Given the description of an element on the screen output the (x, y) to click on. 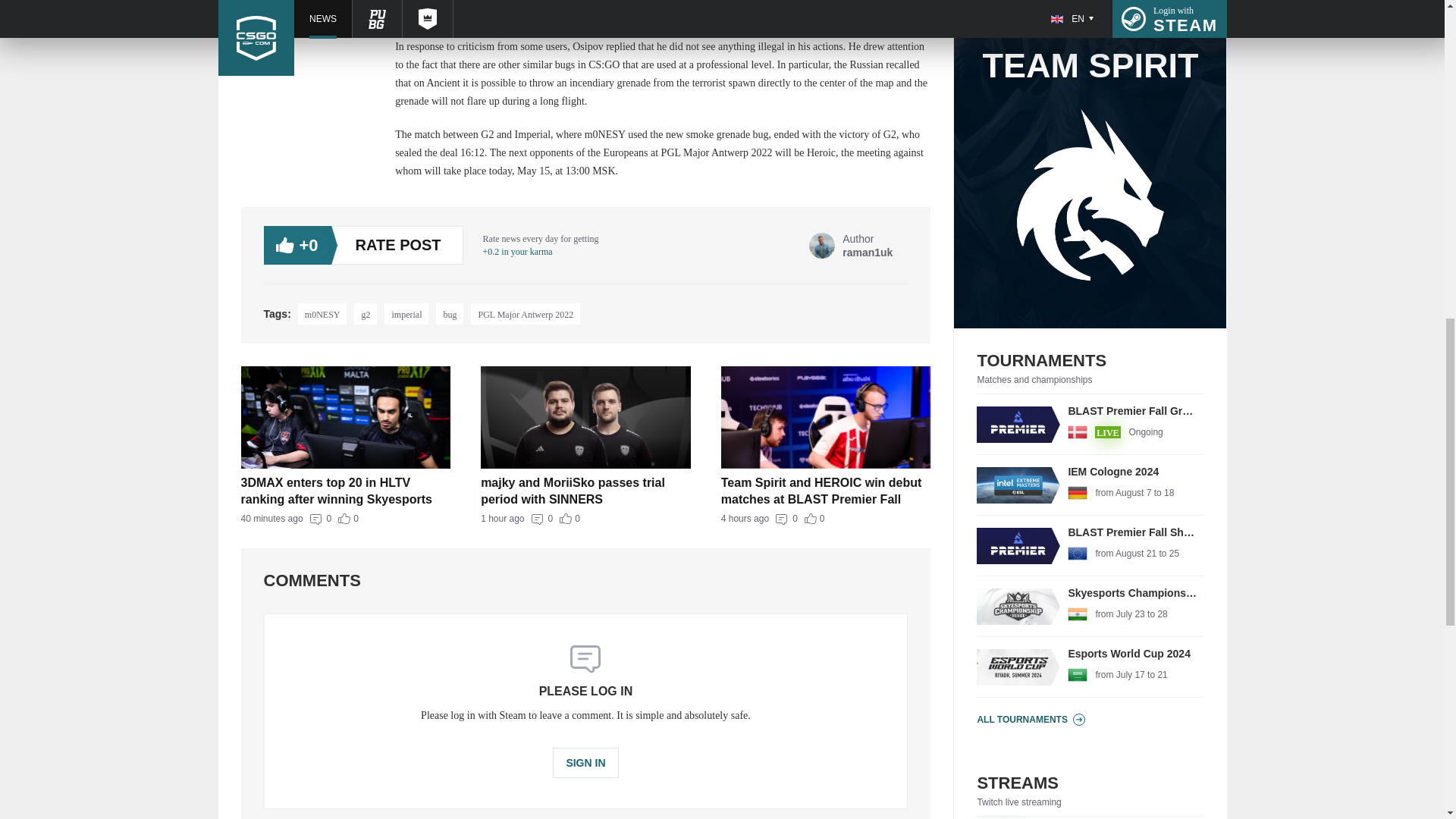
bug (449, 313)
m0NESY (322, 313)
imperial (346, 518)
g2 (406, 313)
SIGN IN (1090, 424)
PGL Major Antwerp 2022 (585, 518)
